Given the description of an element on the screen output the (x, y) to click on. 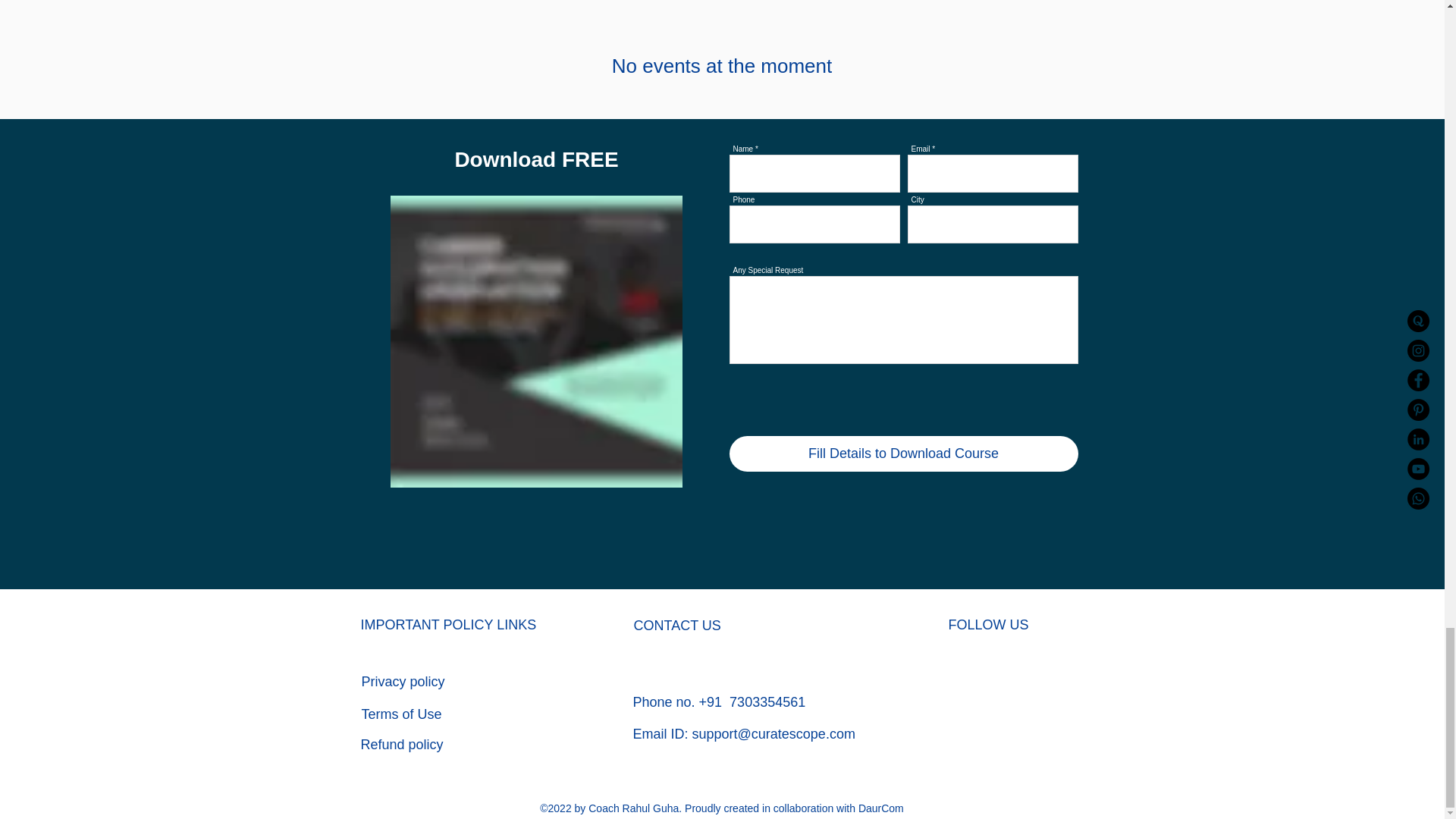
Fill Details to Download Course (903, 453)
Terms of Use (401, 713)
CONTACT US (676, 625)
Privacy policy (402, 681)
Refund policy (402, 744)
